Given the description of an element on the screen output the (x, y) to click on. 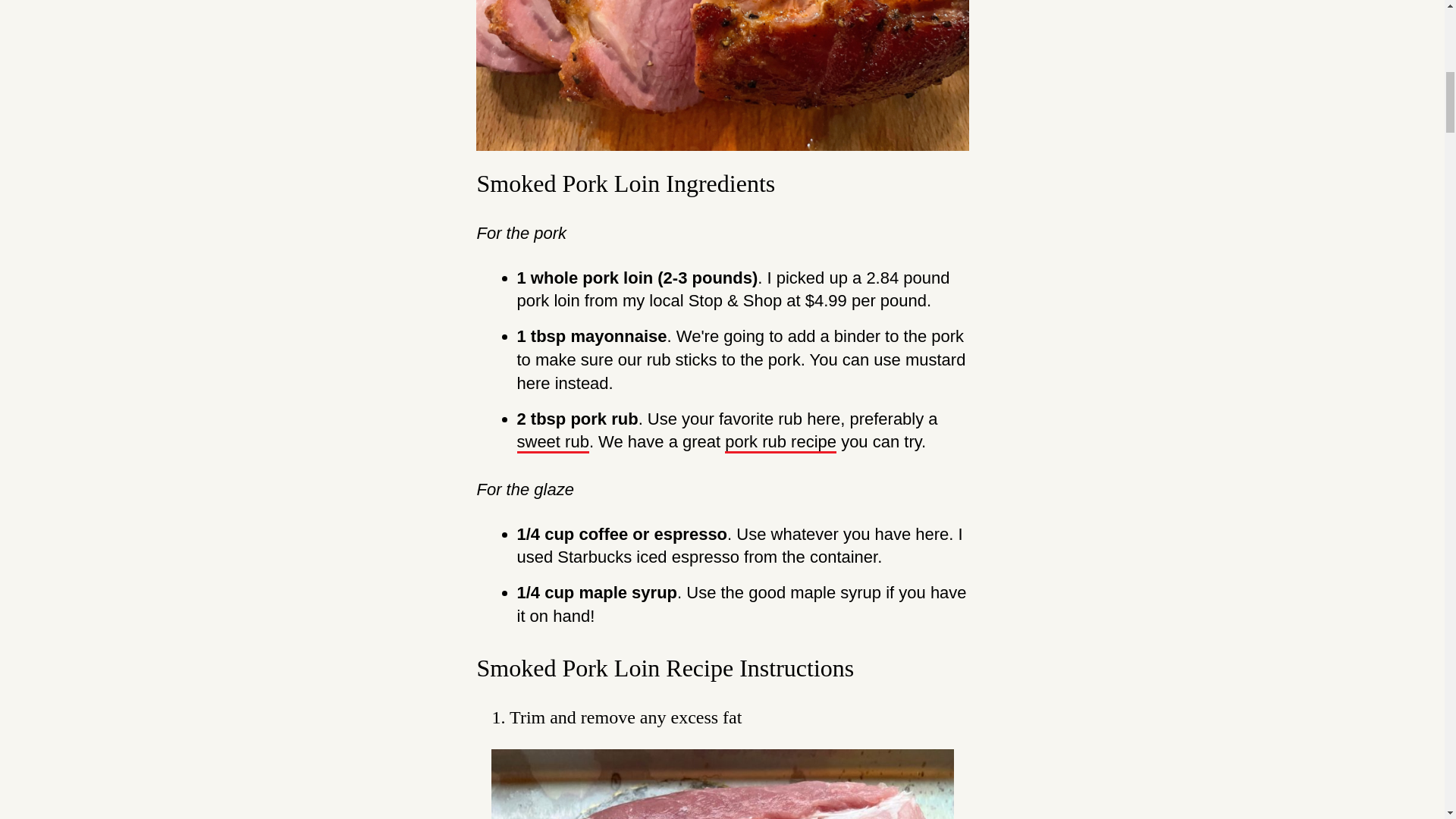
pork loin - google discover (722, 784)
pork rub recipe (780, 442)
sweet rub (552, 442)
sweet rub (552, 442)
pork loin - google discover (722, 75)
